Given the description of an element on the screen output the (x, y) to click on. 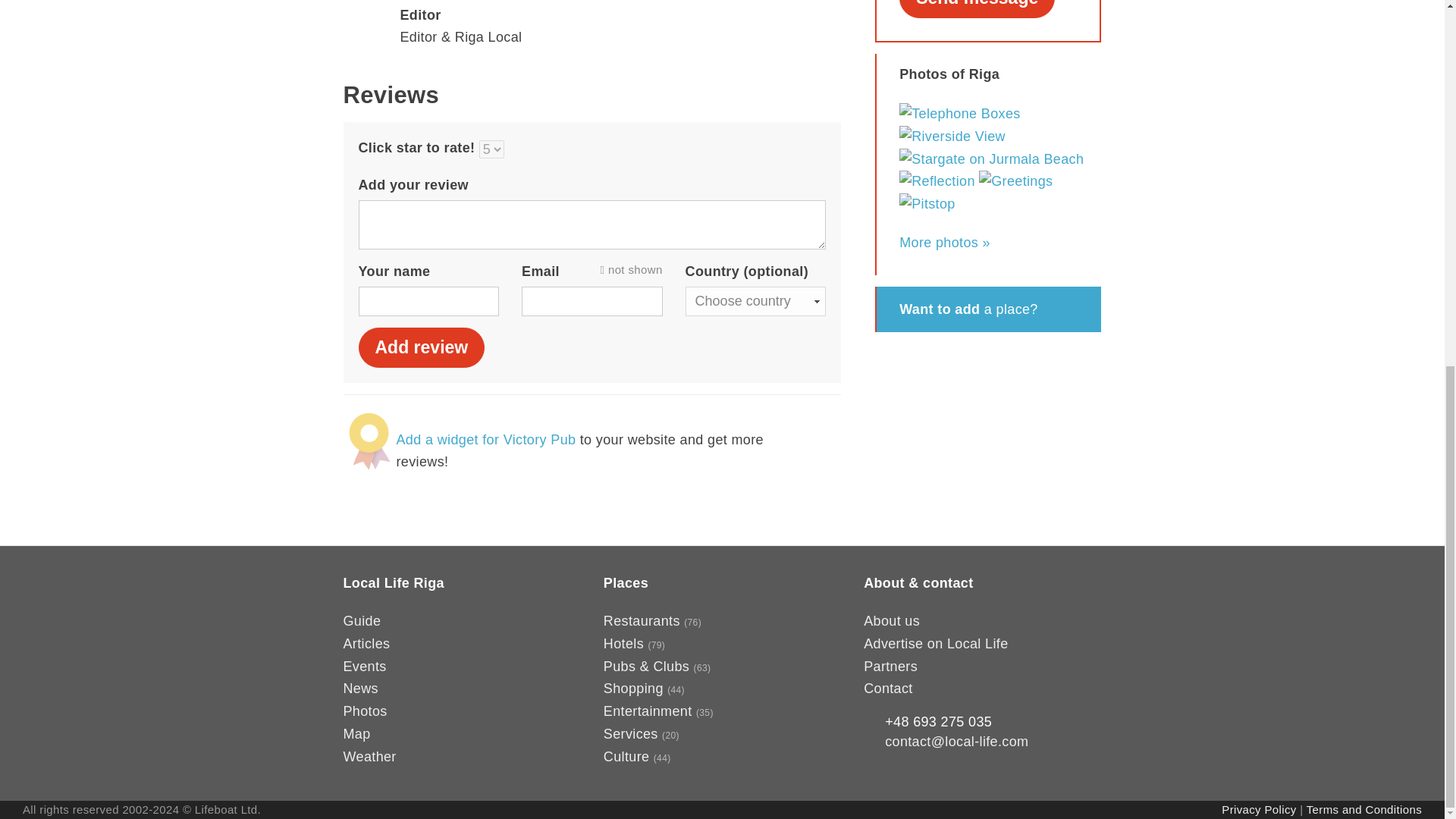
Guide (361, 620)
Local Life Riga (393, 581)
Want to add a place? (988, 309)
Add review (421, 347)
Photos (364, 711)
Add review (421, 347)
Events (363, 666)
Send message (976, 9)
Articles (366, 643)
Send message (976, 9)
